Given the description of an element on the screen output the (x, y) to click on. 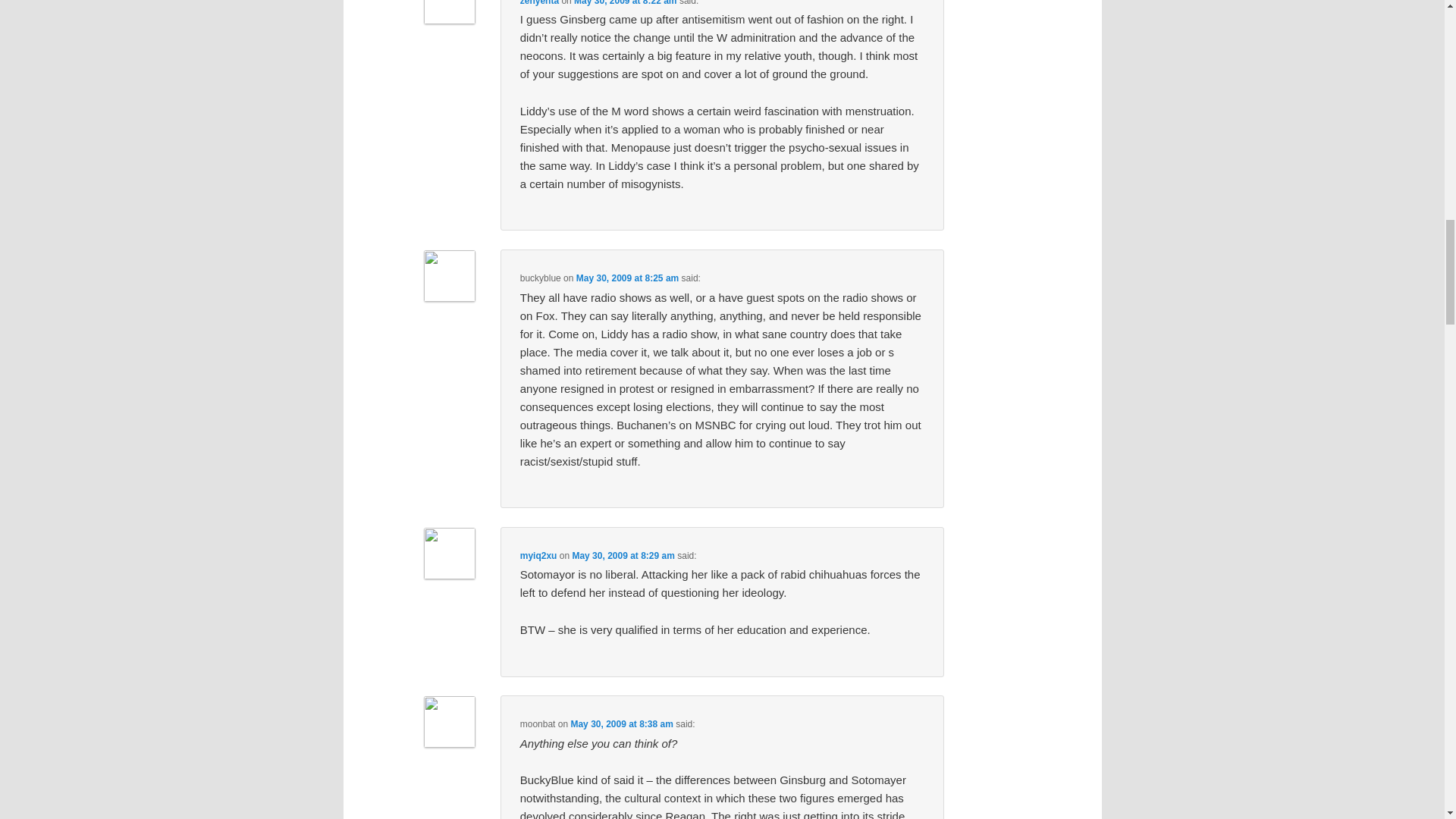
May 30, 2009 at 8:38 am (621, 724)
May 30, 2009 at 8:25 am (627, 277)
May 30, 2009 at 8:22 am (625, 2)
myiq2xu (538, 555)
zenyenta (539, 2)
May 30, 2009 at 8:29 am (623, 555)
